Given the description of an element on the screen output the (x, y) to click on. 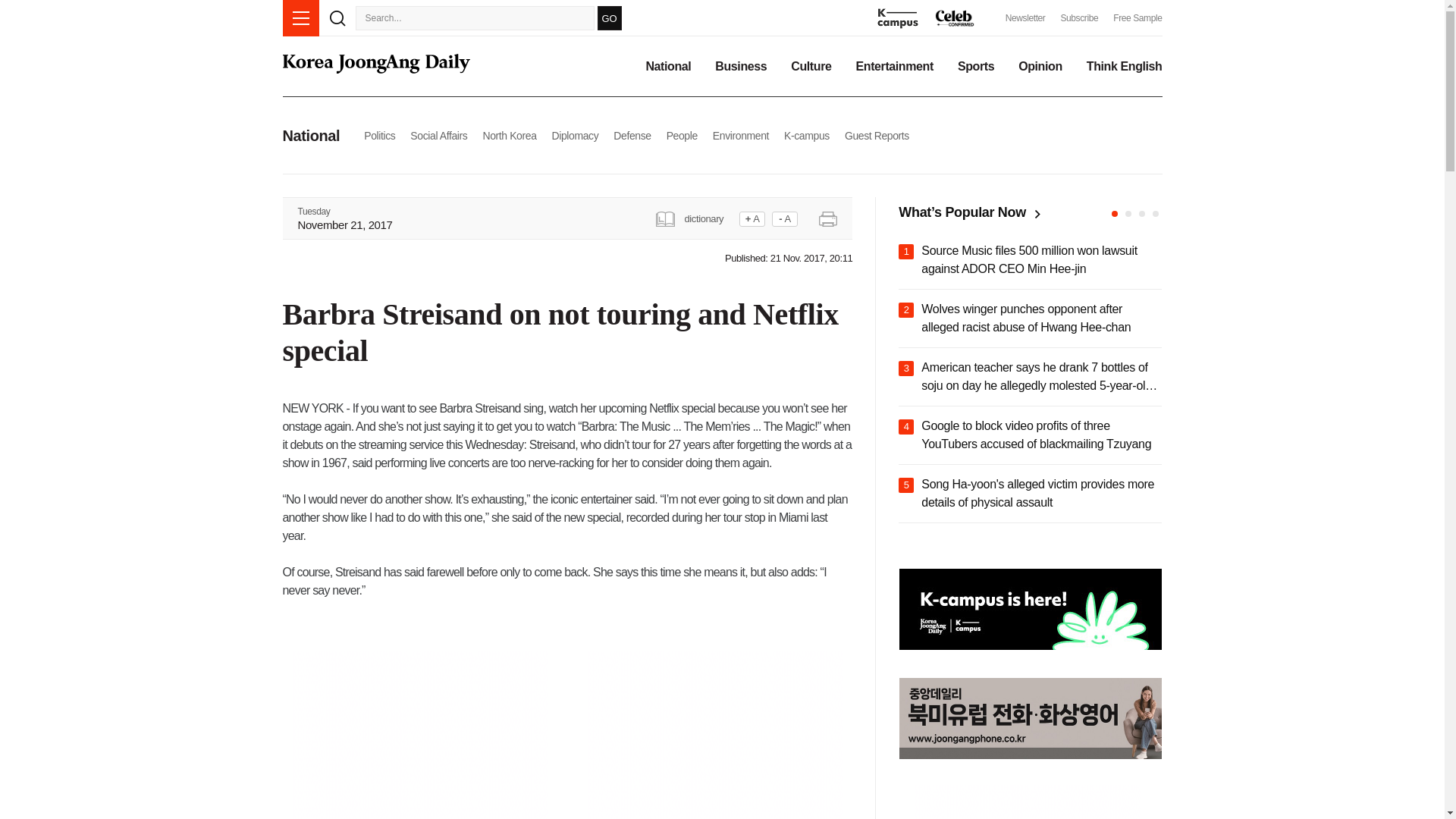
Free Sample (1137, 18)
Entertainment (894, 66)
Social Affairs (438, 135)
GO (608, 17)
North Korea (508, 135)
Guest Reports (876, 135)
Defense (631, 135)
Business (740, 66)
Subscribe (1078, 18)
Culture (810, 66)
K-campus (806, 135)
Politics (379, 135)
Environment (740, 135)
National (667, 66)
Social Affairs (438, 135)
